Given the description of an element on the screen output the (x, y) to click on. 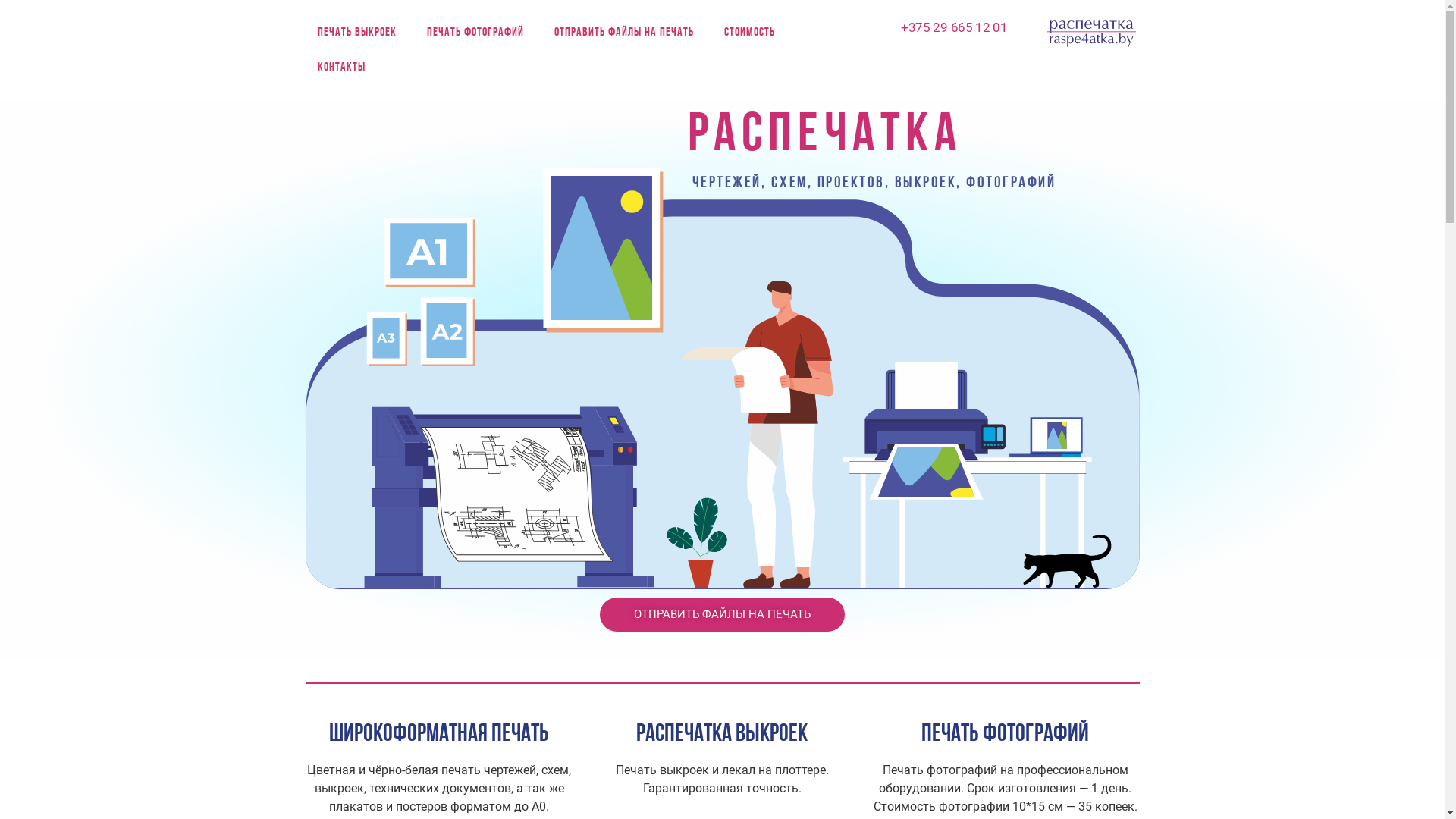
+375 29 665 12 01 Element type: text (953, 27)
